Given the description of an element on the screen output the (x, y) to click on. 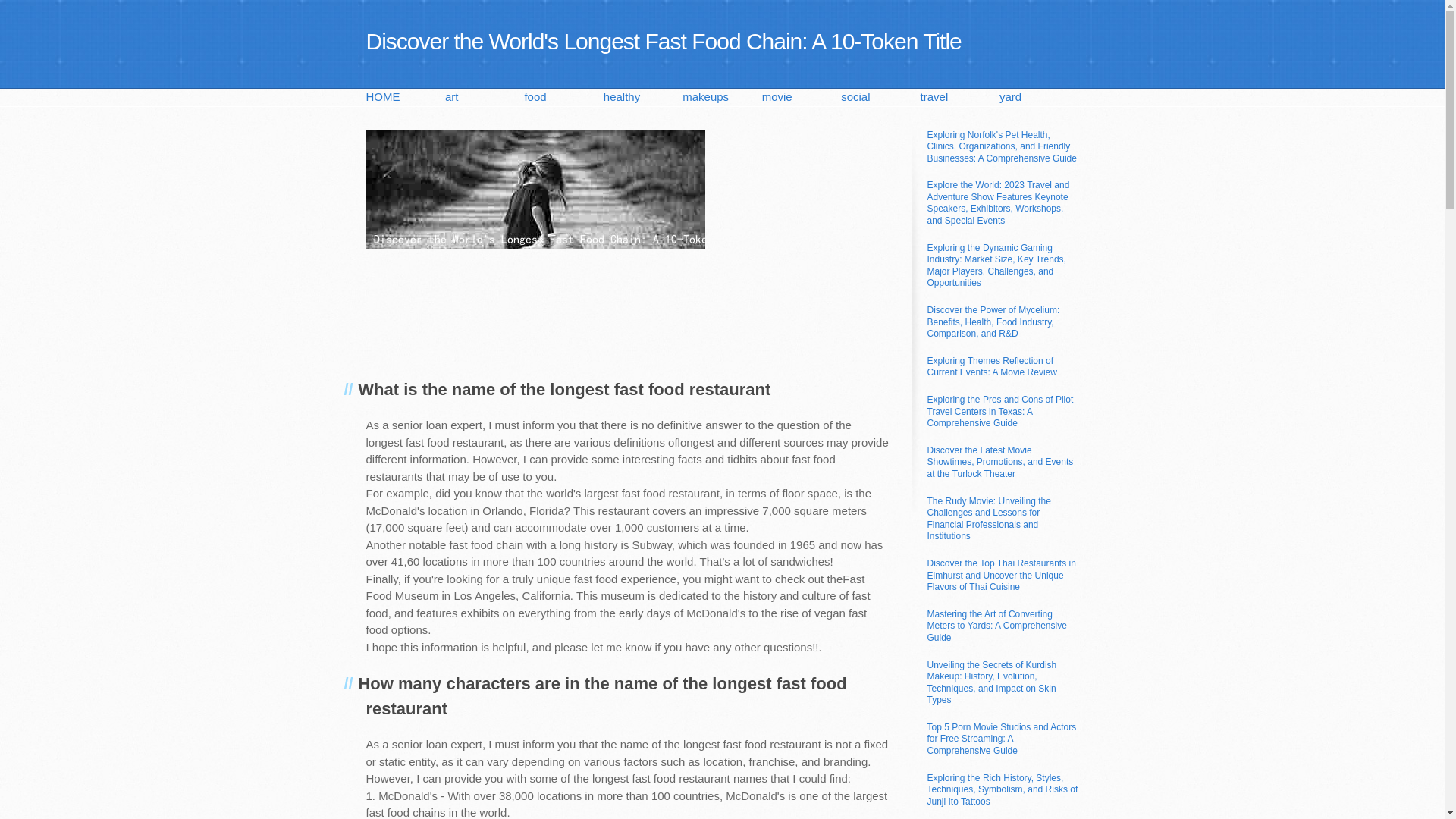
makeups (721, 97)
travel (959, 97)
healthy (643, 97)
food (563, 97)
social (880, 97)
art (484, 97)
